Given the description of an element on the screen output the (x, y) to click on. 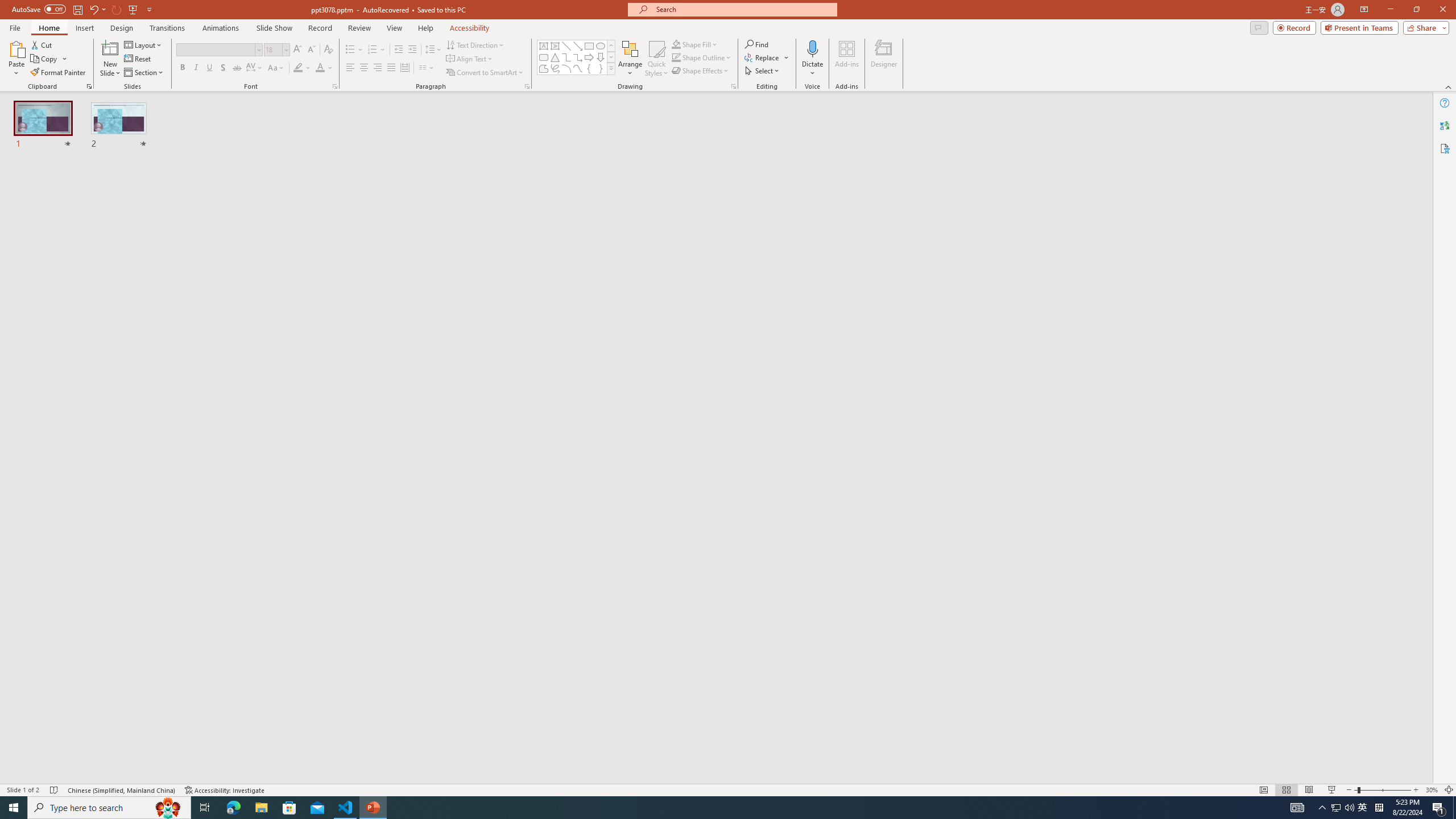
Clear Formatting (327, 49)
Section (144, 72)
Reset (138, 58)
Format Painter (58, 72)
Text Highlight Color Yellow (297, 67)
Font Color Red (320, 67)
Rectangle: Rounded Corners (543, 57)
